Given the description of an element on the screen output the (x, y) to click on. 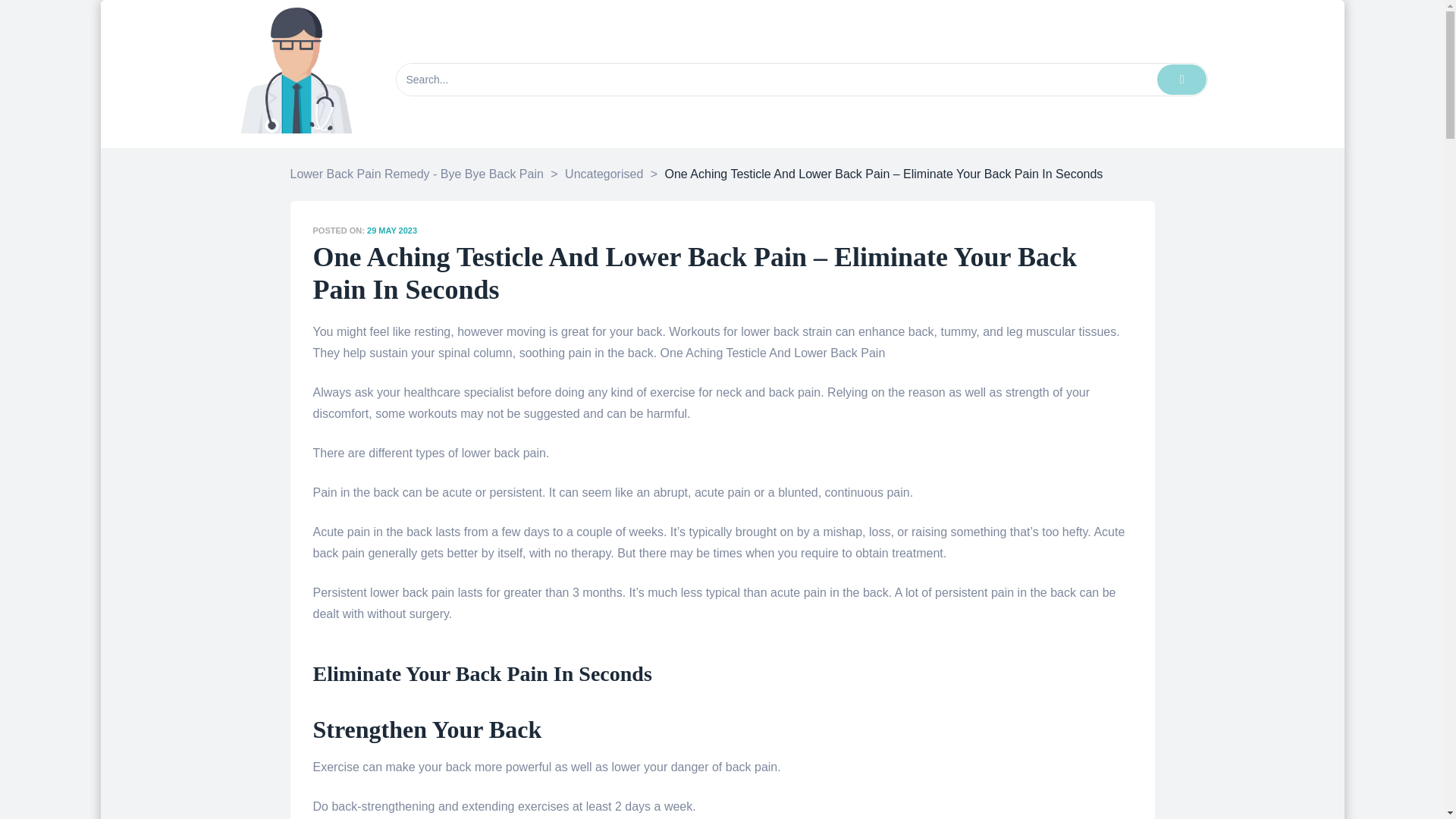
Search (776, 79)
Lower Back Pain Remedy - Bye Bye Back Pain (416, 174)
Eliminate Your Back Pain In Seconds (481, 673)
Uncategorised (603, 174)
Go to the Uncategorised Category archives. (603, 174)
Go to Lower Back Pain Remedy - Bye Bye Back Pain. (416, 174)
